Given the description of an element on the screen output the (x, y) to click on. 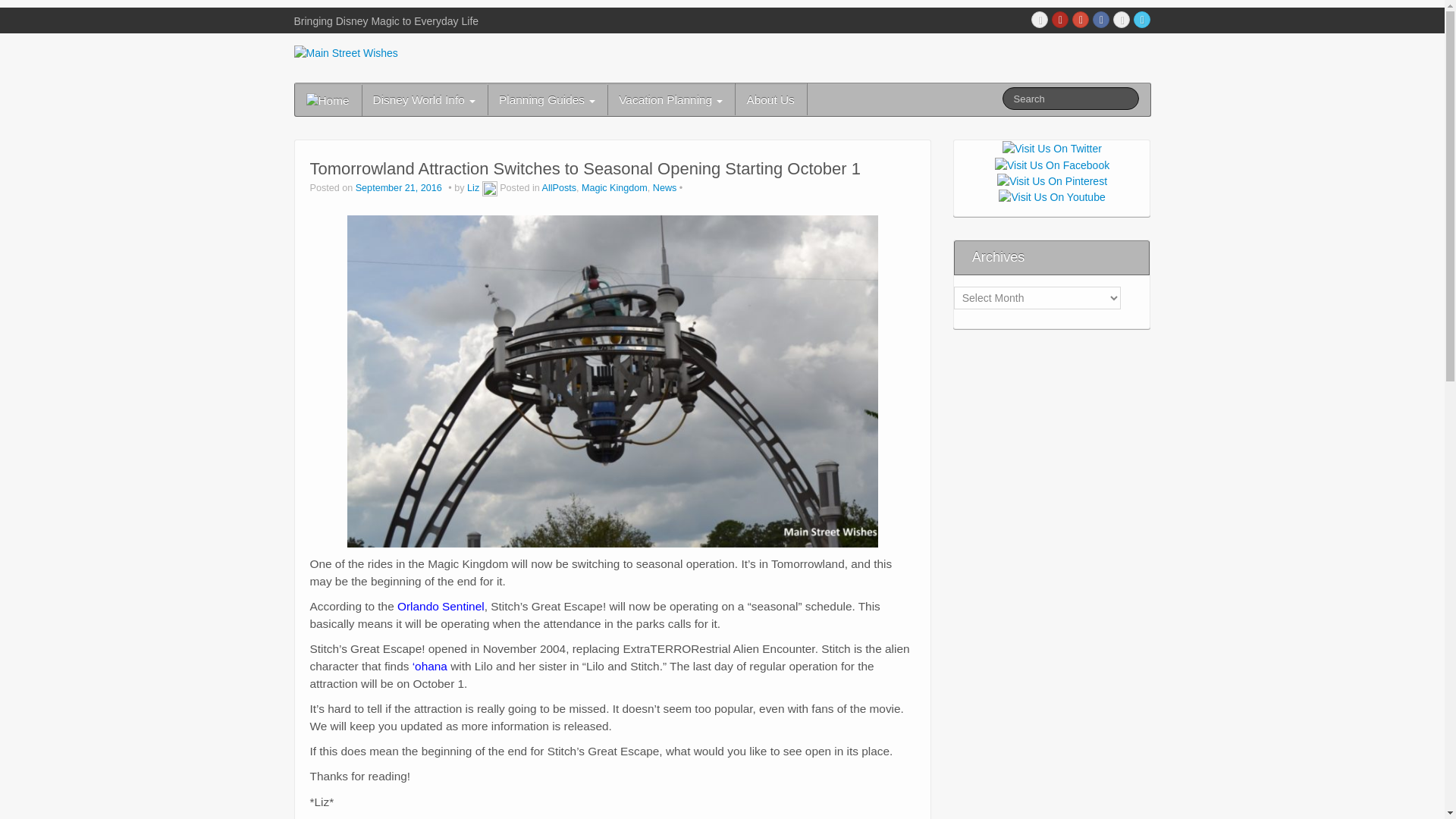
Disney World Info (423, 99)
Visit Us On Facebook (1051, 163)
Main Street Wishes Twitter (1142, 19)
About Us (770, 99)
Main Street Wishes (345, 51)
Magic Kingdom (613, 187)
1:39 pm (400, 187)
News (664, 187)
Visit Us On Twitter (1051, 147)
Vacation Planning (670, 99)
